Given the description of an element on the screen output the (x, y) to click on. 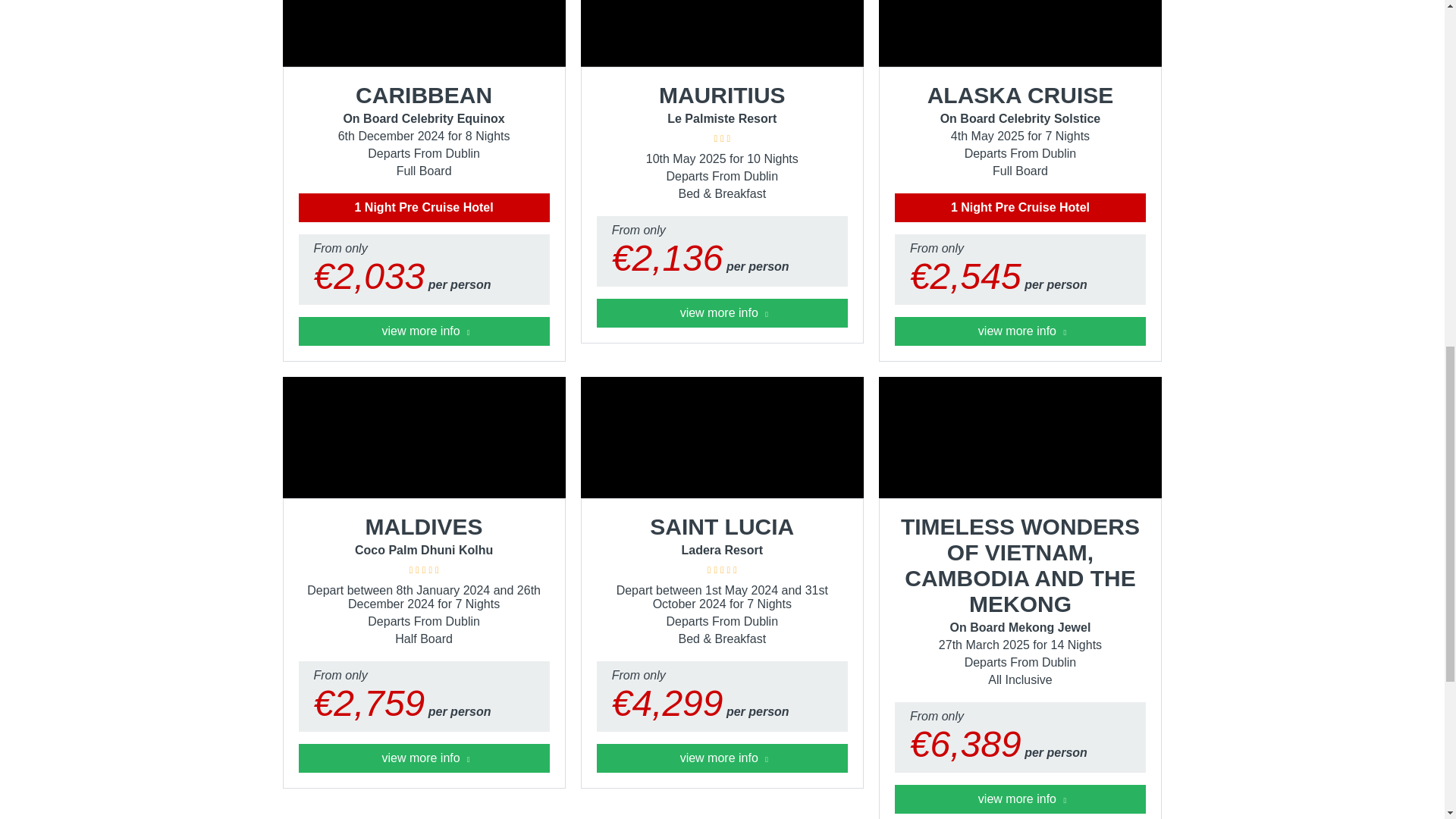
view more info (424, 758)
view more info (721, 312)
view more info (1020, 799)
view more info (1020, 330)
view more info (424, 330)
view more info (721, 758)
